Given the description of an element on the screen output the (x, y) to click on. 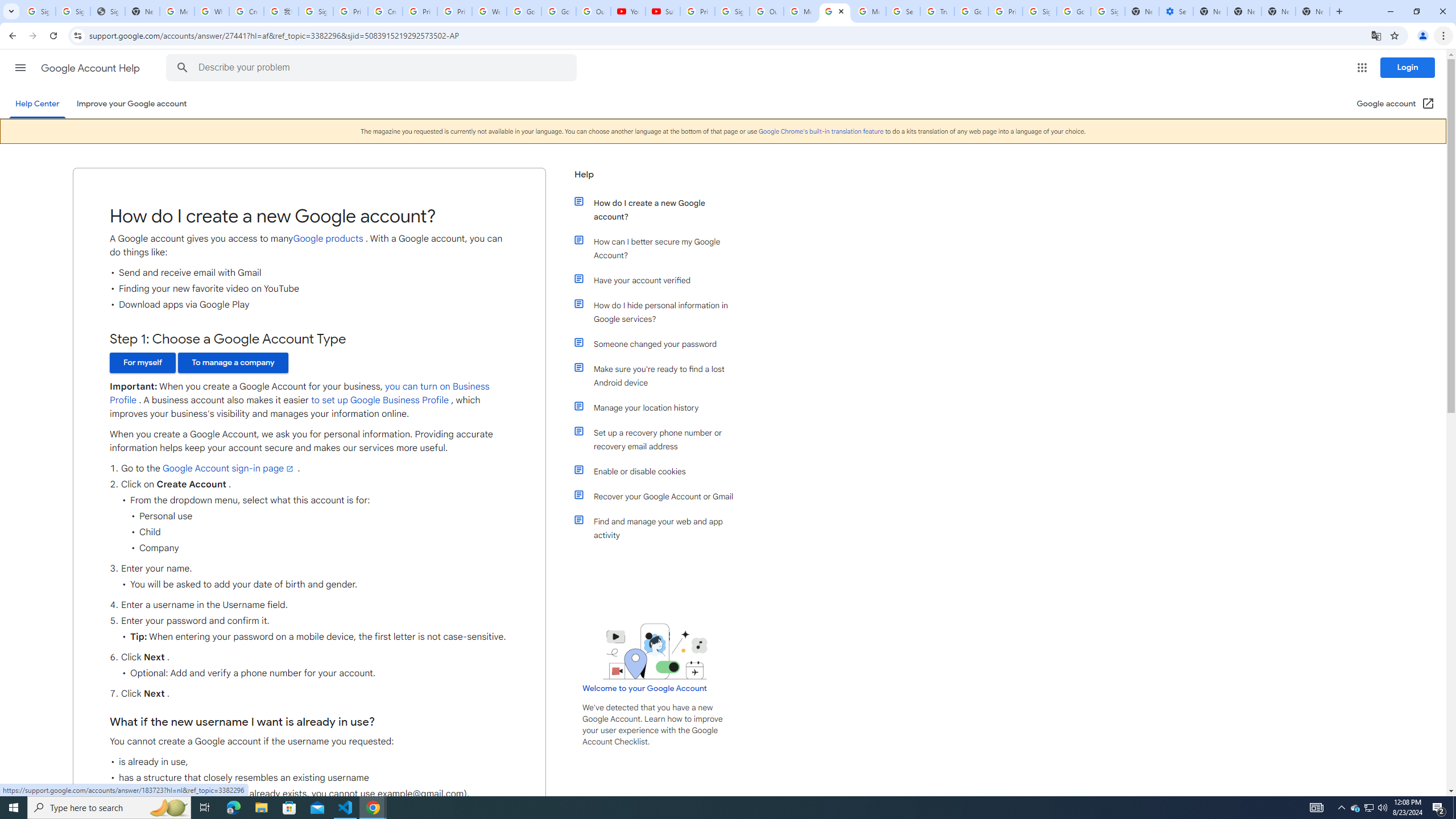
Sign in - Google Accounts (73, 11)
New Tab (1278, 11)
Settings - Performance (1176, 11)
Google Account sign-in page (228, 468)
Help Center (36, 103)
Sign in - Google Accounts (38, 11)
How can I better secure my Google Account? (661, 248)
Welcome to My Activity (489, 11)
